Given the description of an element on the screen output the (x, y) to click on. 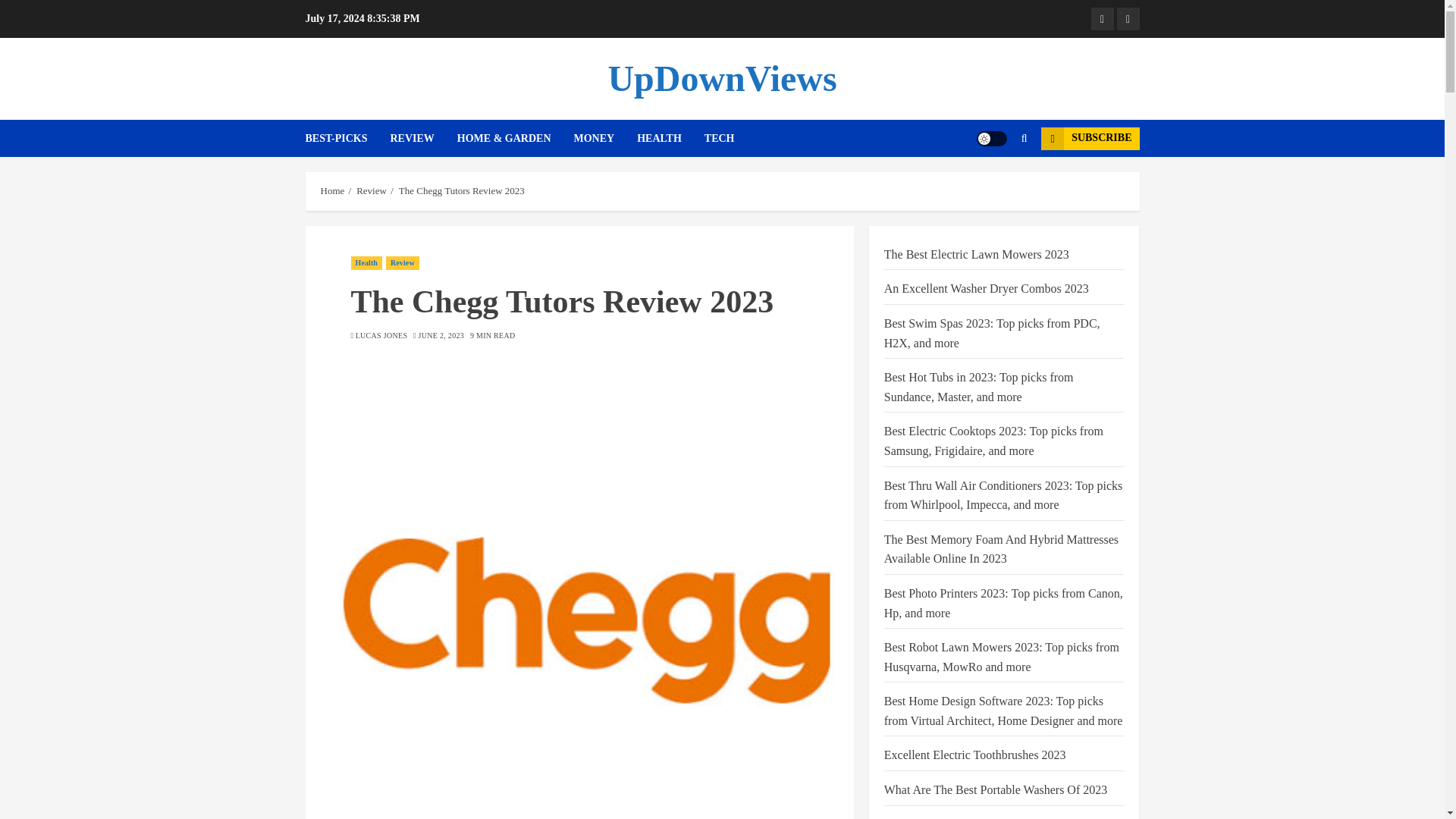
LUCAS JONES (381, 335)
Home (331, 191)
MONEY (605, 138)
Health (365, 263)
JUNE 2, 2023 (441, 335)
REVIEW (423, 138)
Review (402, 263)
Search (994, 184)
Facebook Profile (1101, 18)
HEALTH (670, 138)
UpDownViews (721, 78)
SUBSCRIBE (1089, 138)
The Chegg Tutors Review 2023 (461, 191)
Twitter Profile (1127, 18)
Review (371, 191)
